Given the description of an element on the screen output the (x, y) to click on. 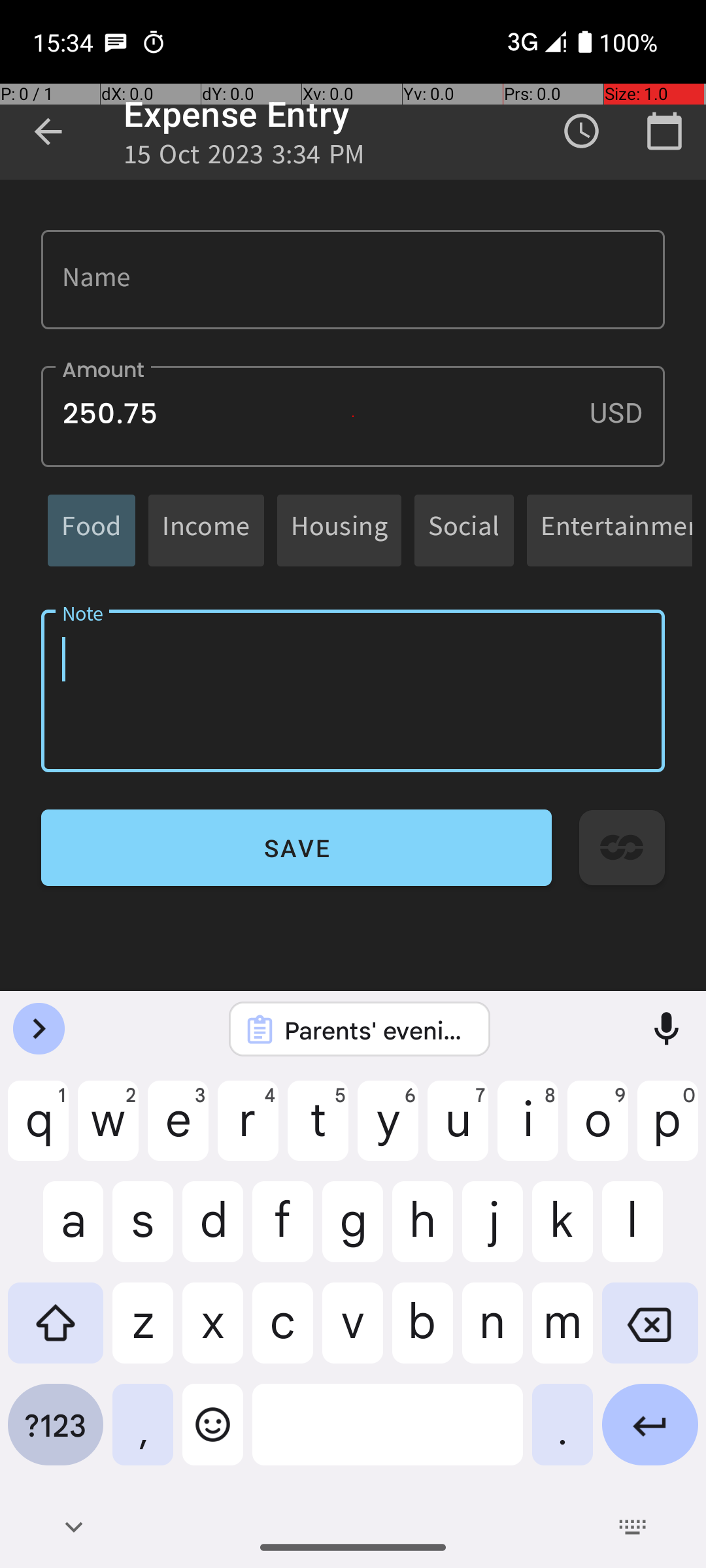
Parents' evening at school this Wednesday. Element type: android.widget.TextView (376, 1029)
